Given the description of an element on the screen output the (x, y) to click on. 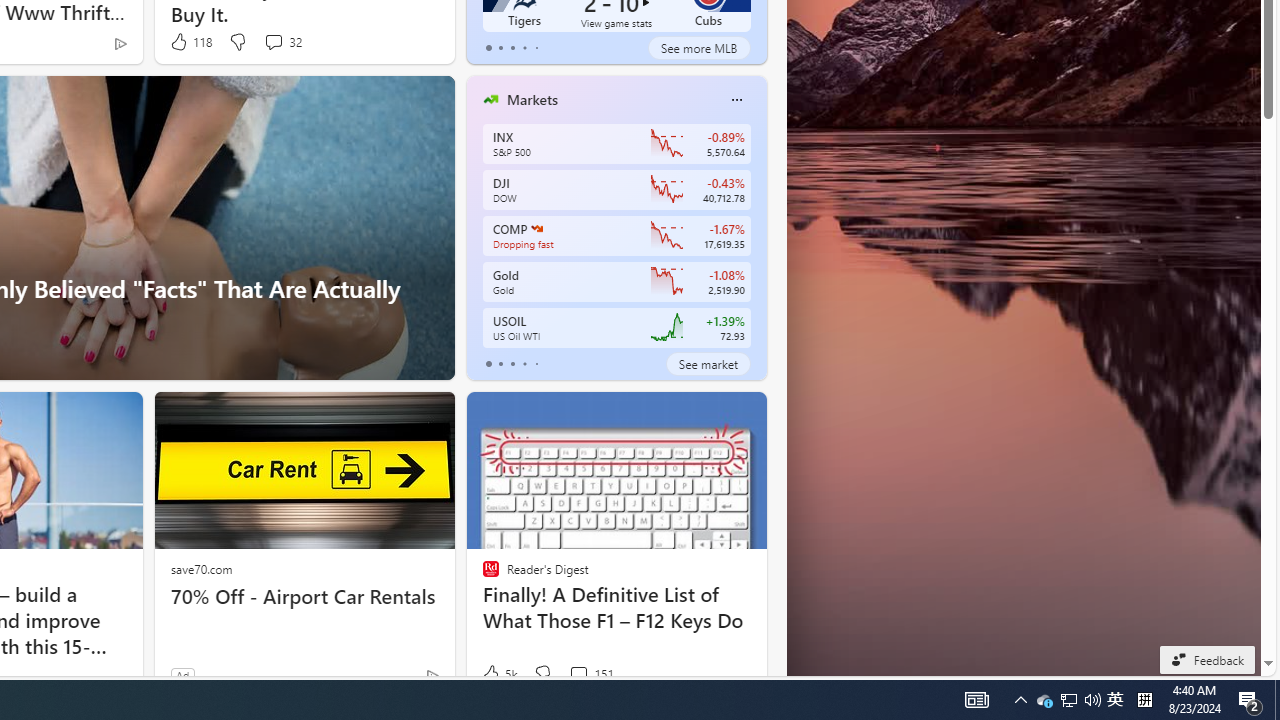
save70.com (201, 568)
View comments 151 Comment (578, 673)
View comments 32 Comment (281, 42)
Class: icon-img (736, 100)
See market (708, 363)
118 Like (190, 42)
View comments 32 Comment (273, 41)
5k Like (498, 674)
Markets (531, 99)
tab-0 (488, 363)
tab-1 (500, 363)
